Given the description of an element on the screen output the (x, y) to click on. 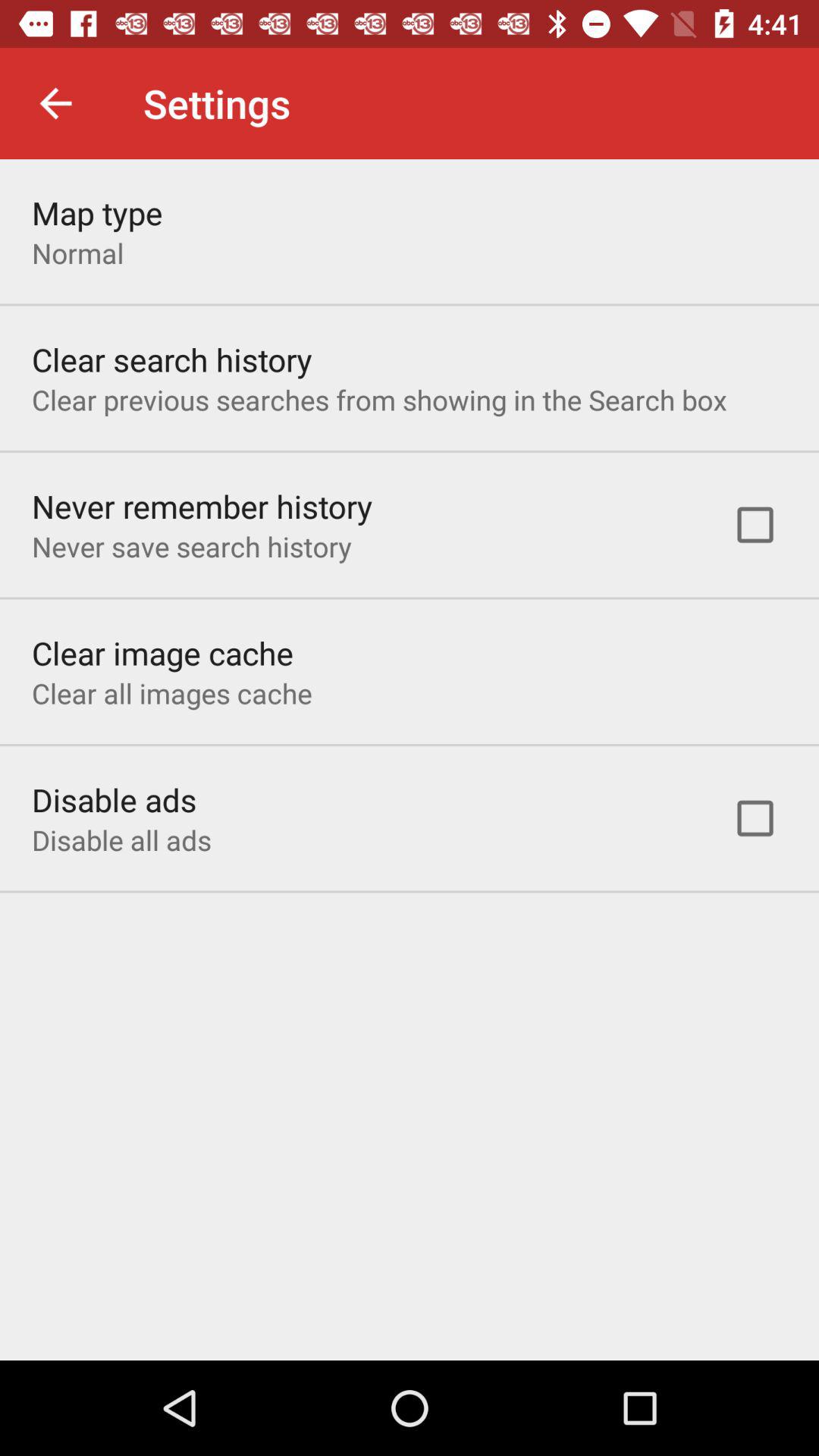
jump to never save search icon (191, 546)
